Given the description of an element on the screen output the (x, y) to click on. 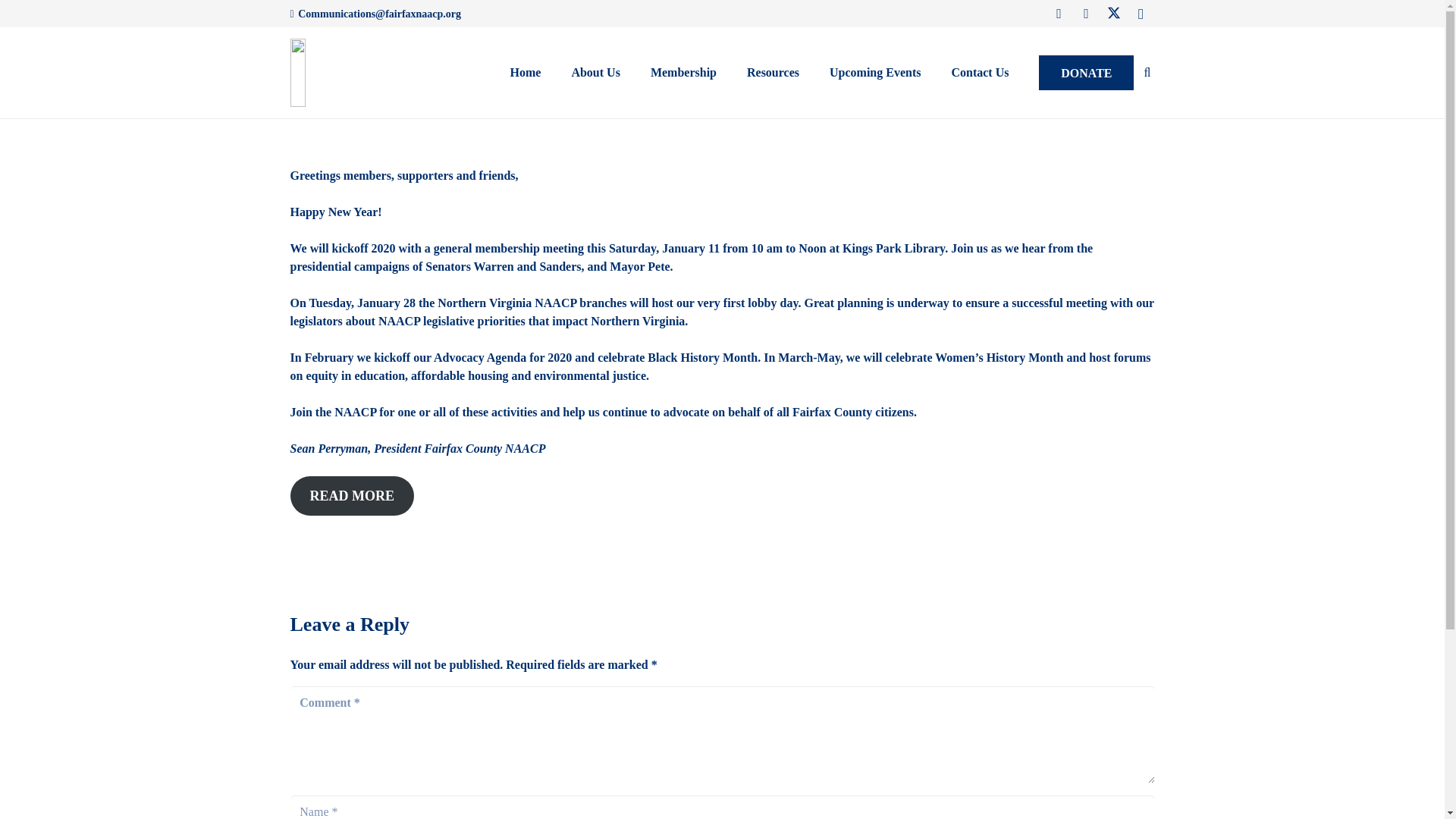
Twitter (1113, 13)
Membership (683, 72)
Instagram (1140, 13)
Facebook (1086, 13)
YouTube (1059, 13)
Resources (772, 72)
